Given the description of an element on the screen output the (x, y) to click on. 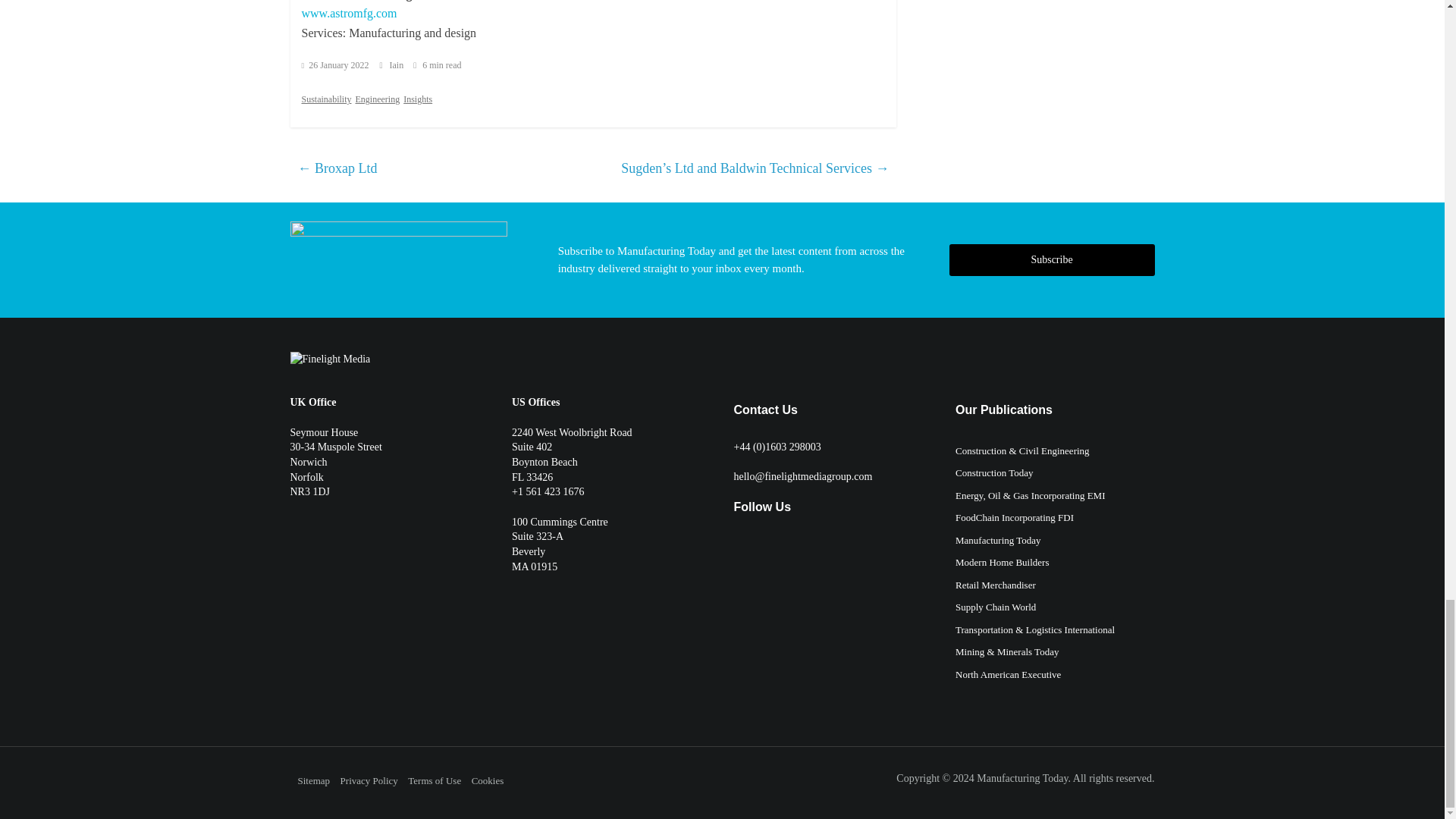
Subscribe (1051, 260)
Insights (417, 99)
www.astromfg.com (349, 12)
Manufacturing Today (1021, 778)
Iain (398, 64)
2:14 pm (335, 64)
Iain (398, 64)
26 January 2022 (335, 64)
Sustainability (326, 99)
Engineering (376, 99)
